Given the description of an element on the screen output the (x, y) to click on. 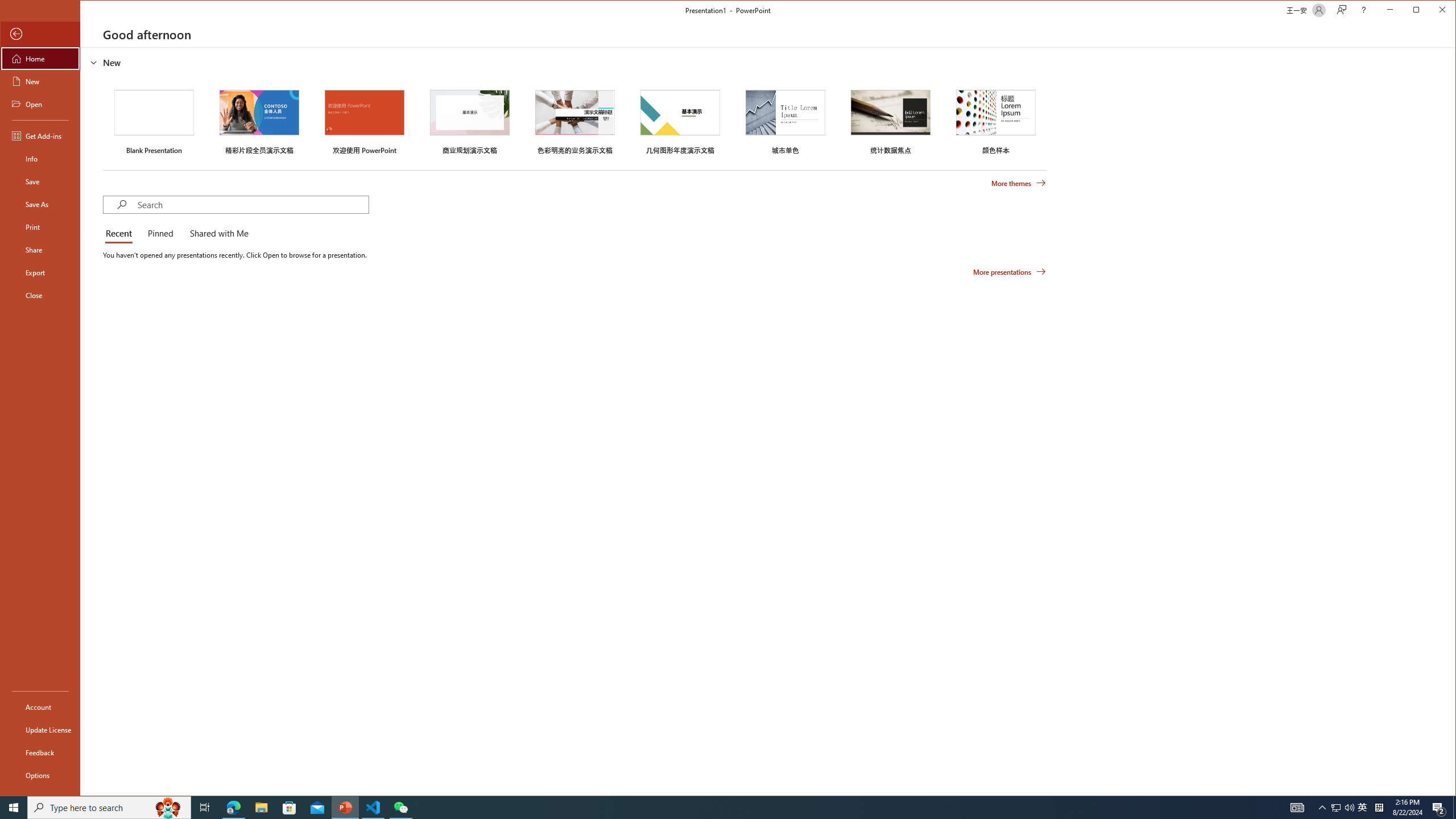
Maximize (1432, 11)
Hide or show region (93, 62)
Update License (40, 729)
Get Add-ins (40, 135)
Shared with Me (216, 234)
Blank Presentation (154, 119)
Print (40, 226)
